Given the description of an element on the screen output the (x, y) to click on. 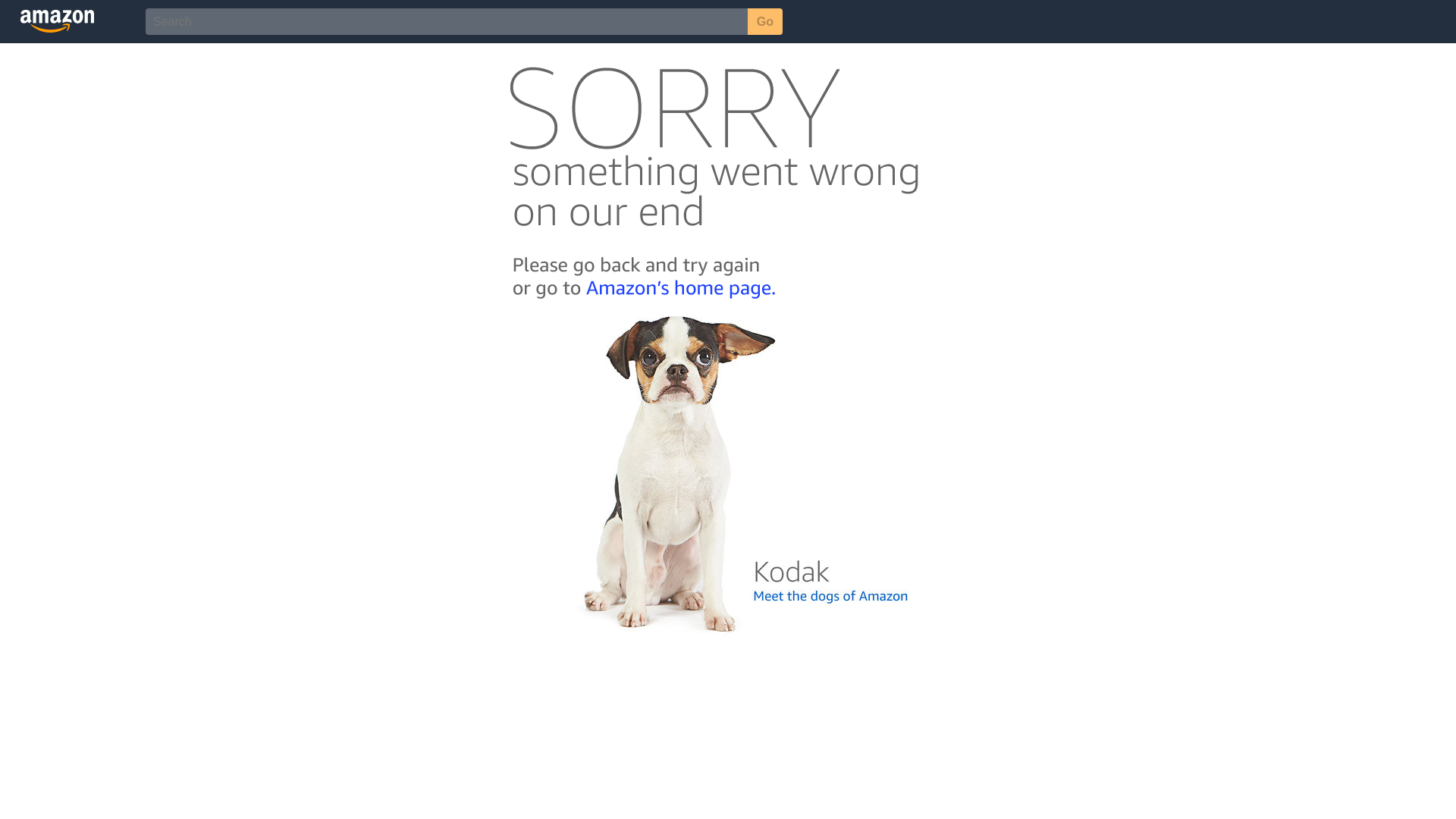
Go (765, 21)
Go (765, 21)
